Given the description of an element on the screen output the (x, y) to click on. 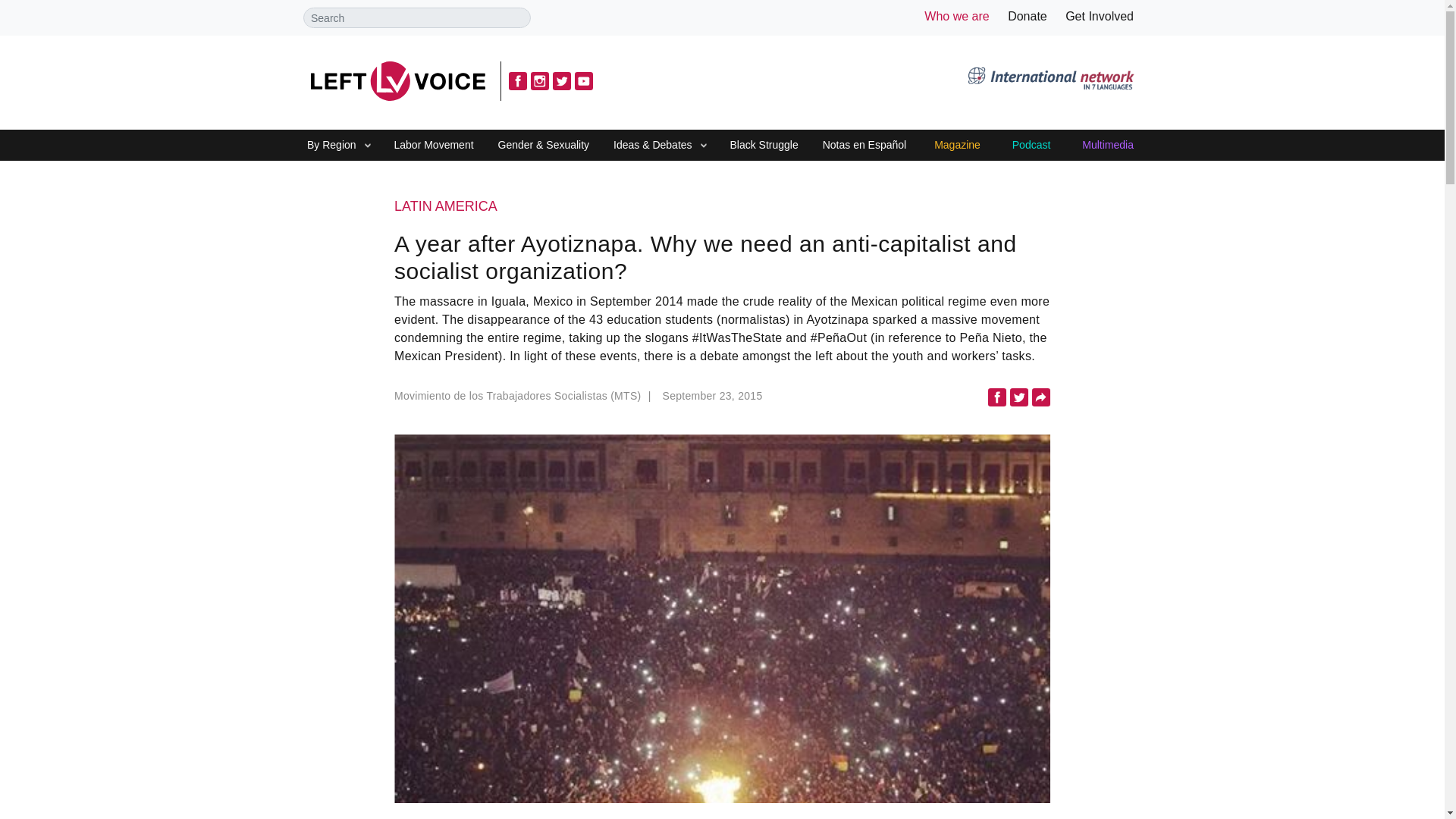
Labor Movement (433, 145)
International Network (1050, 80)
Left Voice (397, 80)
LATIN AMERICA (721, 207)
Black Struggle (763, 145)
Multimedia (1107, 145)
By Region (330, 145)
Who we are (956, 15)
Donate (1027, 15)
Magazine (957, 145)
